Given the description of an element on the screen output the (x, y) to click on. 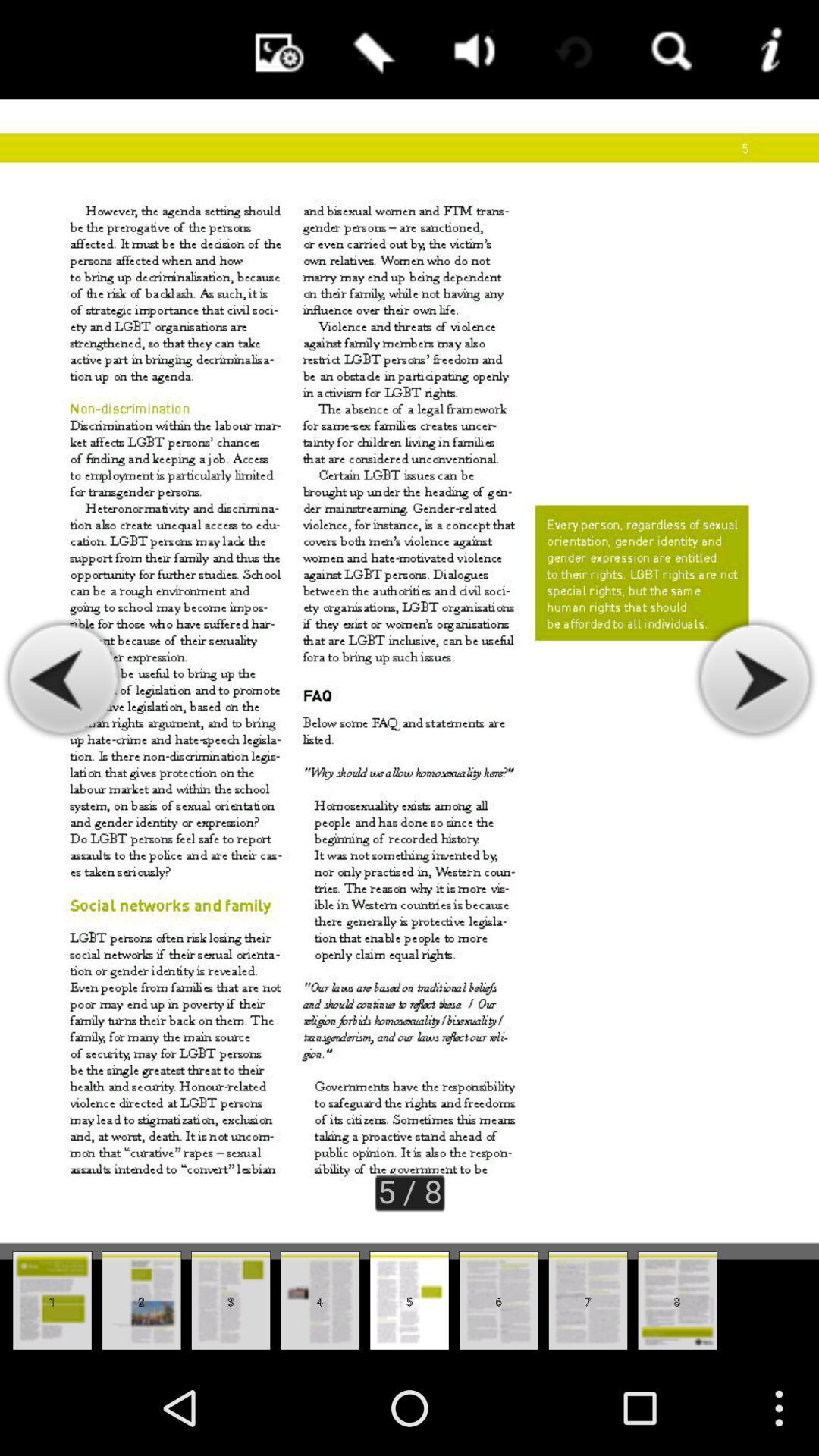
enable bookmark (370, 49)
